Given the description of an element on the screen output the (x, y) to click on. 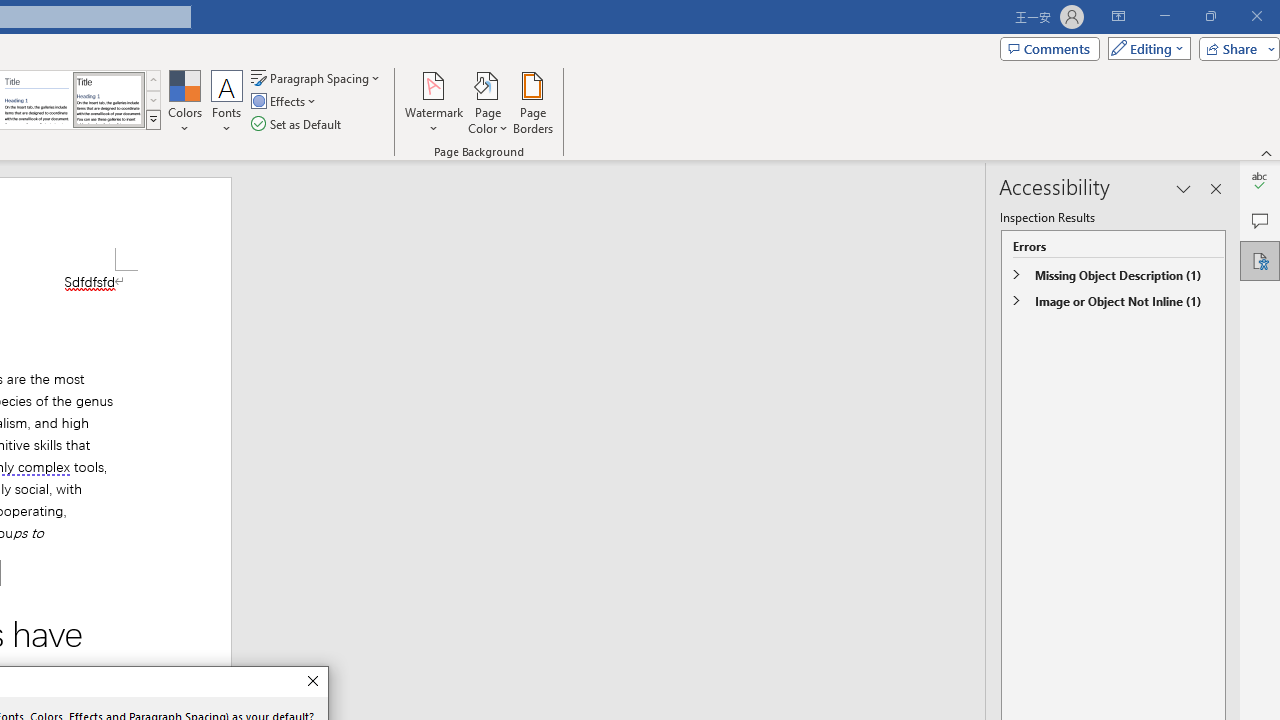
Colors (184, 102)
Page Borders... (532, 102)
Word 2013 (108, 100)
Page Color (487, 102)
Editing (1144, 47)
Effects (285, 101)
Paragraph Spacing (317, 78)
